Given the description of an element on the screen output the (x, y) to click on. 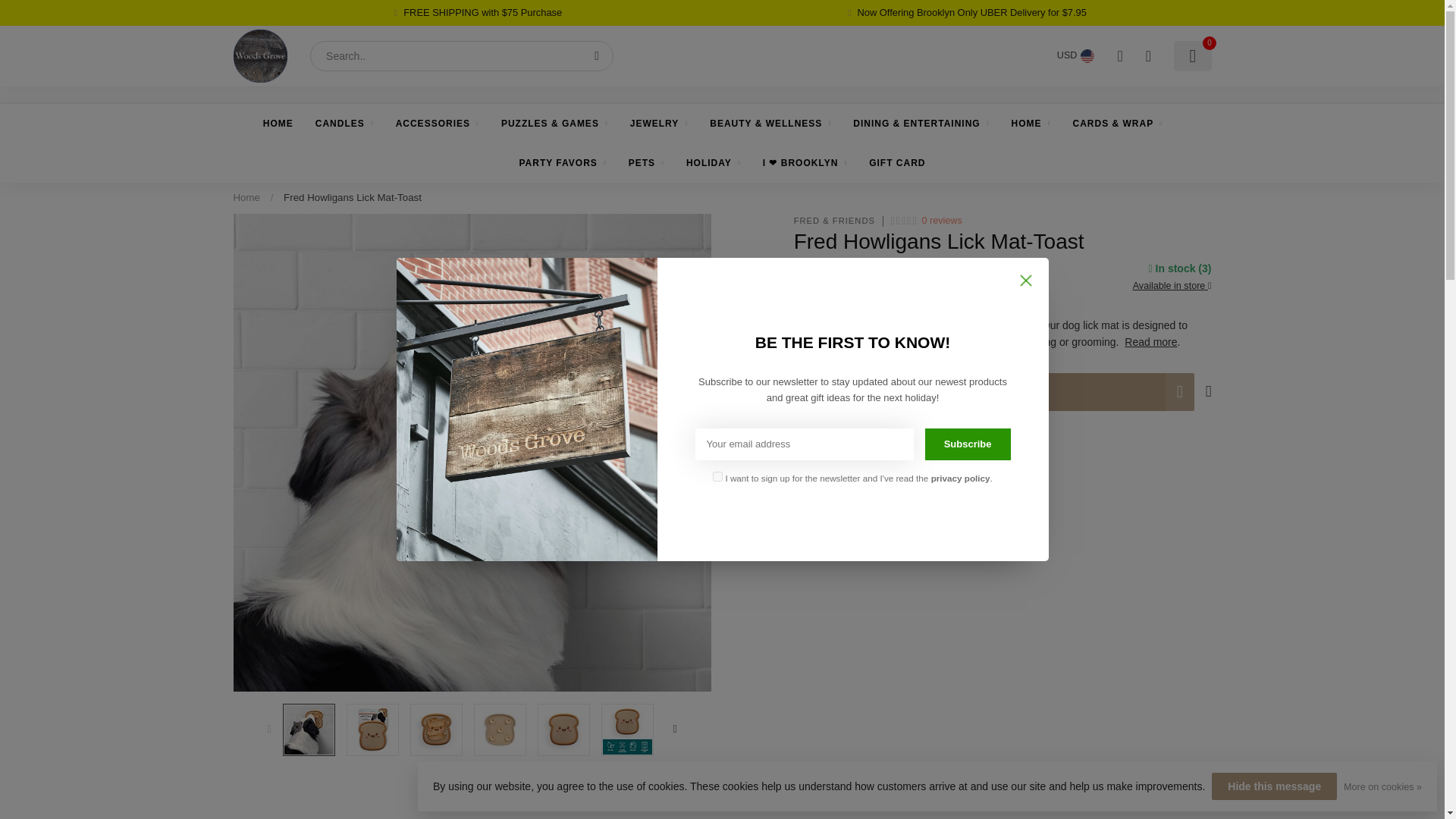
CANDLES (344, 123)
1 (820, 392)
Home (246, 197)
on (717, 476)
0 (1192, 55)
1 (1060, 244)
